Given the description of an element on the screen output the (x, y) to click on. 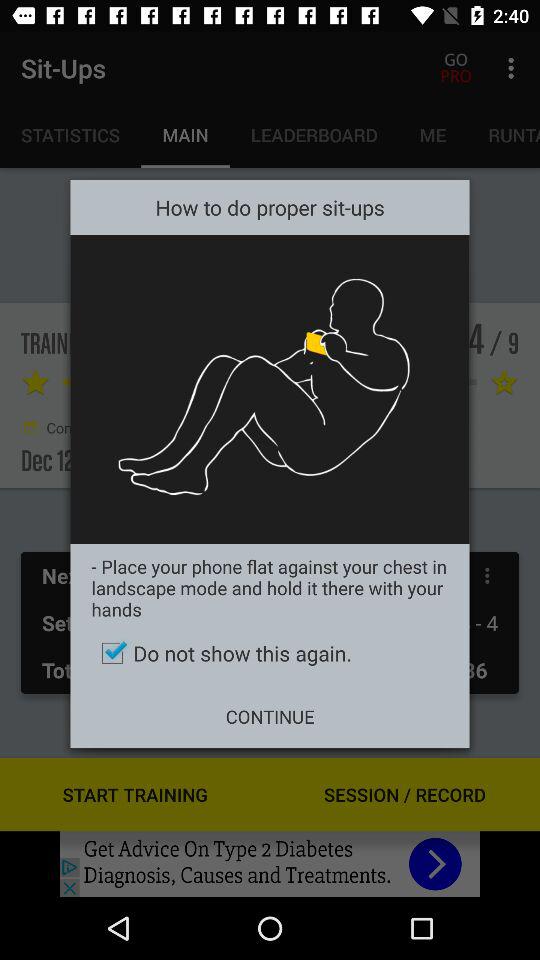
click the continue icon (269, 716)
